Given the description of an element on the screen output the (x, y) to click on. 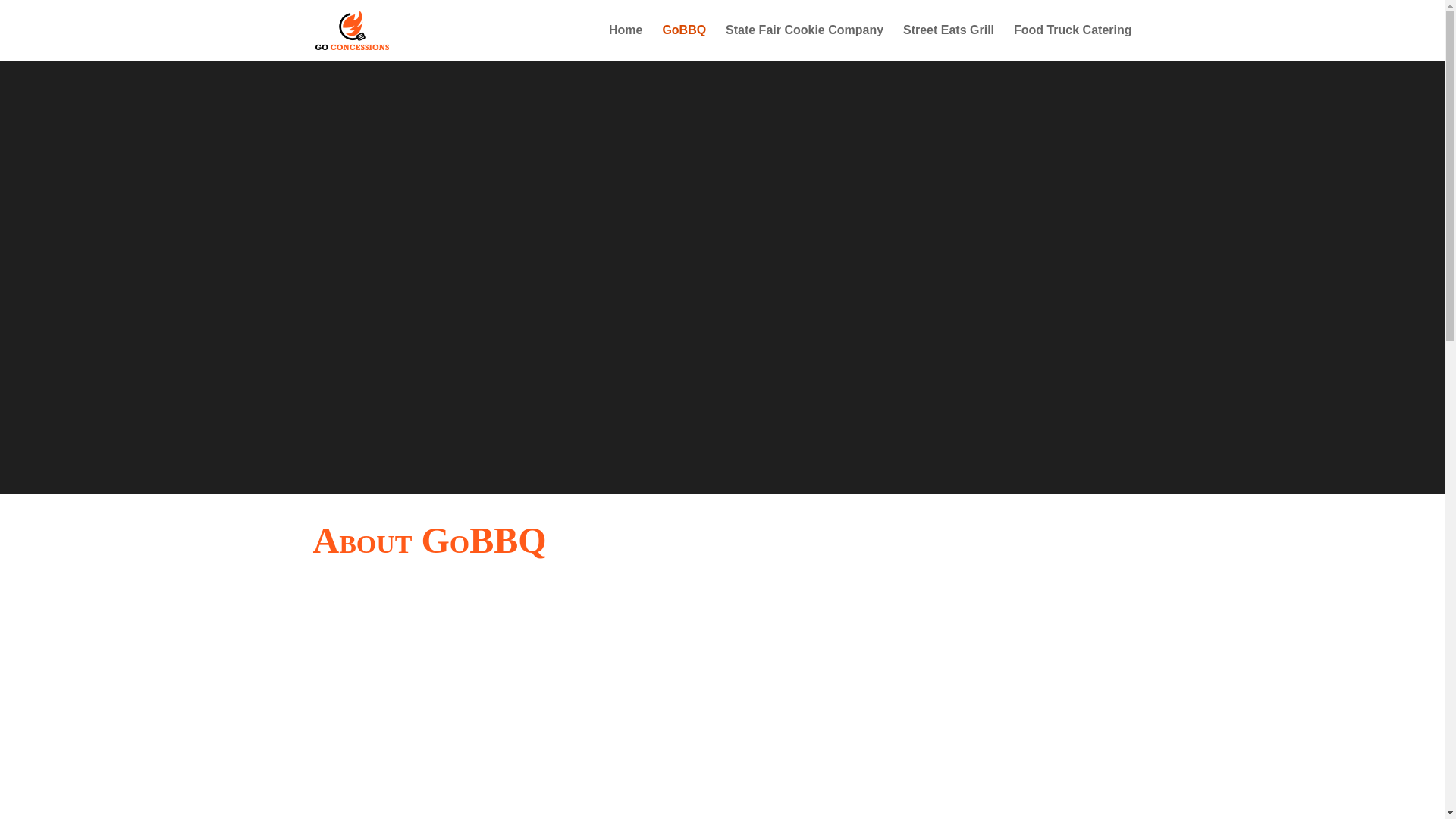
Food Truck Catering (1072, 42)
State Fair Cookie Company (804, 42)
GoBBQ (684, 42)
Street Eats Grill (948, 42)
Home (625, 42)
